Given the description of an element on the screen output the (x, y) to click on. 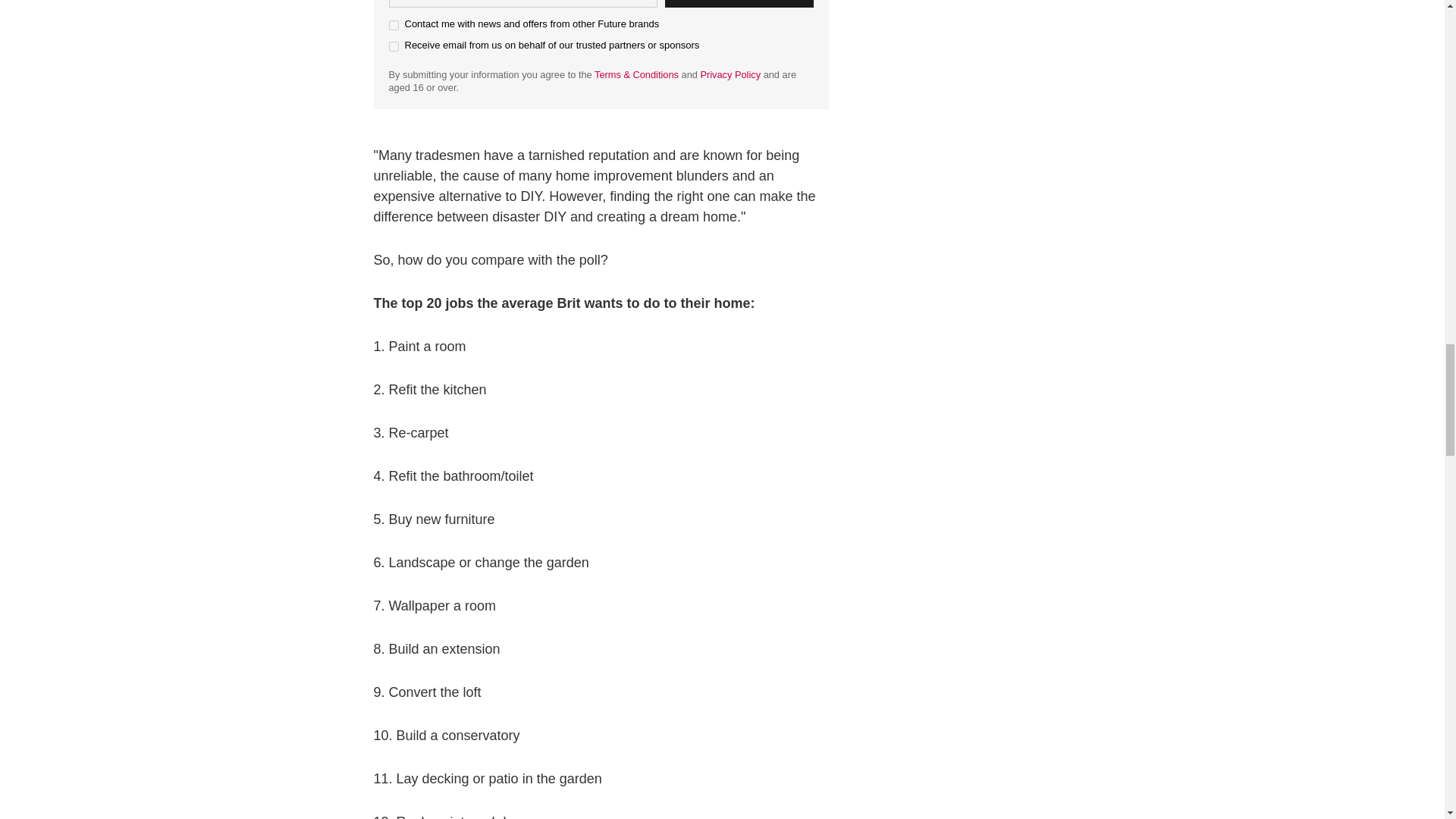
Sign me up (737, 3)
on (392, 46)
on (392, 25)
